Given the description of an element on the screen output the (x, y) to click on. 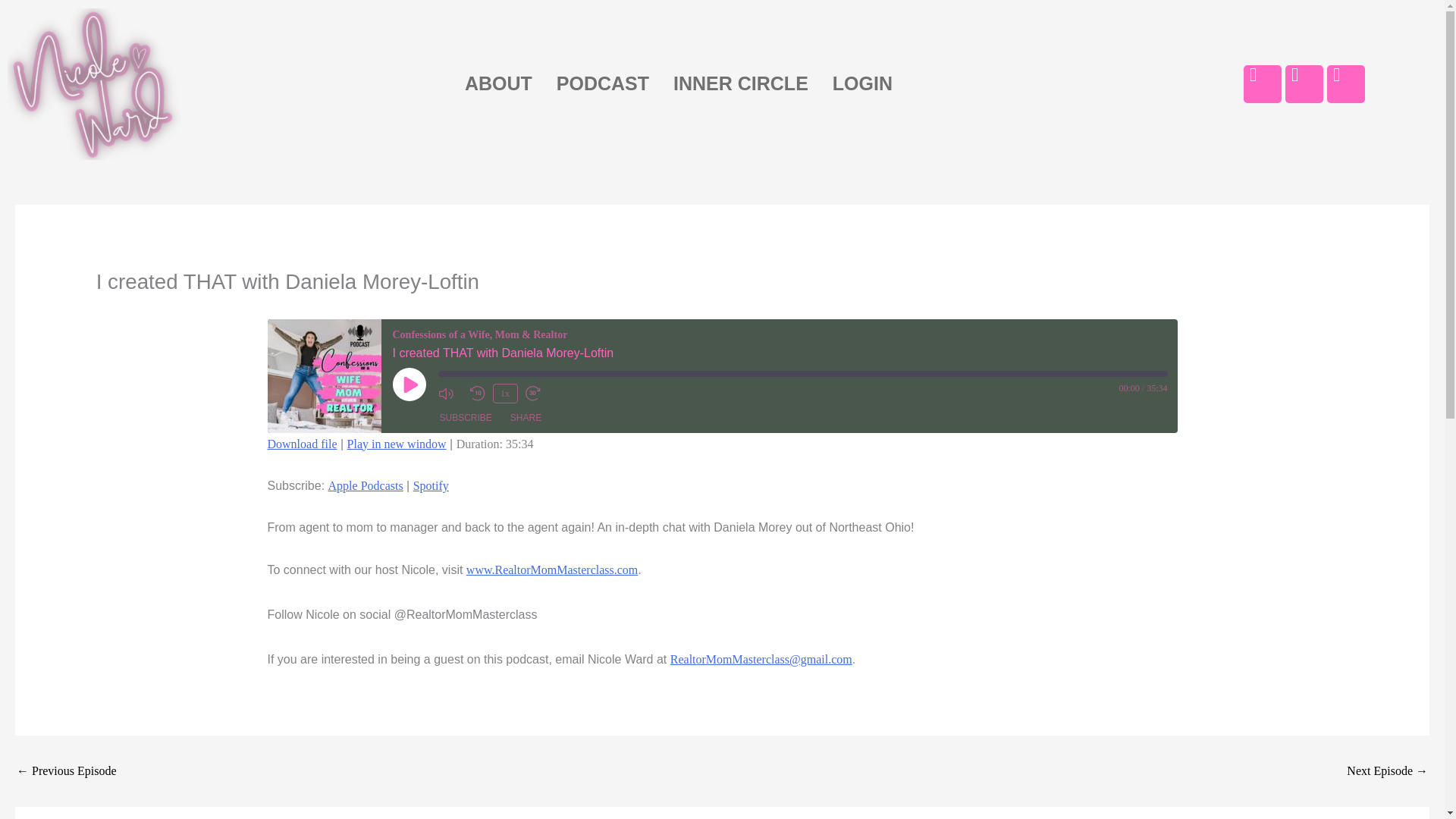
Rewind 10 seconds (477, 393)
Playback Speed (505, 393)
INNER CIRCLE (741, 83)
SHARE (525, 417)
Share (525, 417)
Fast Forward 30 seconds (536, 393)
Spotify (430, 485)
ABOUT (498, 83)
Subscribe (465, 417)
1x (505, 393)
Facebook (1262, 84)
SUBSCRIBE (465, 417)
Download file (301, 443)
PODCAST (602, 83)
Fast Forward 30 seconds (536, 393)
